Given the description of an element on the screen output the (x, y) to click on. 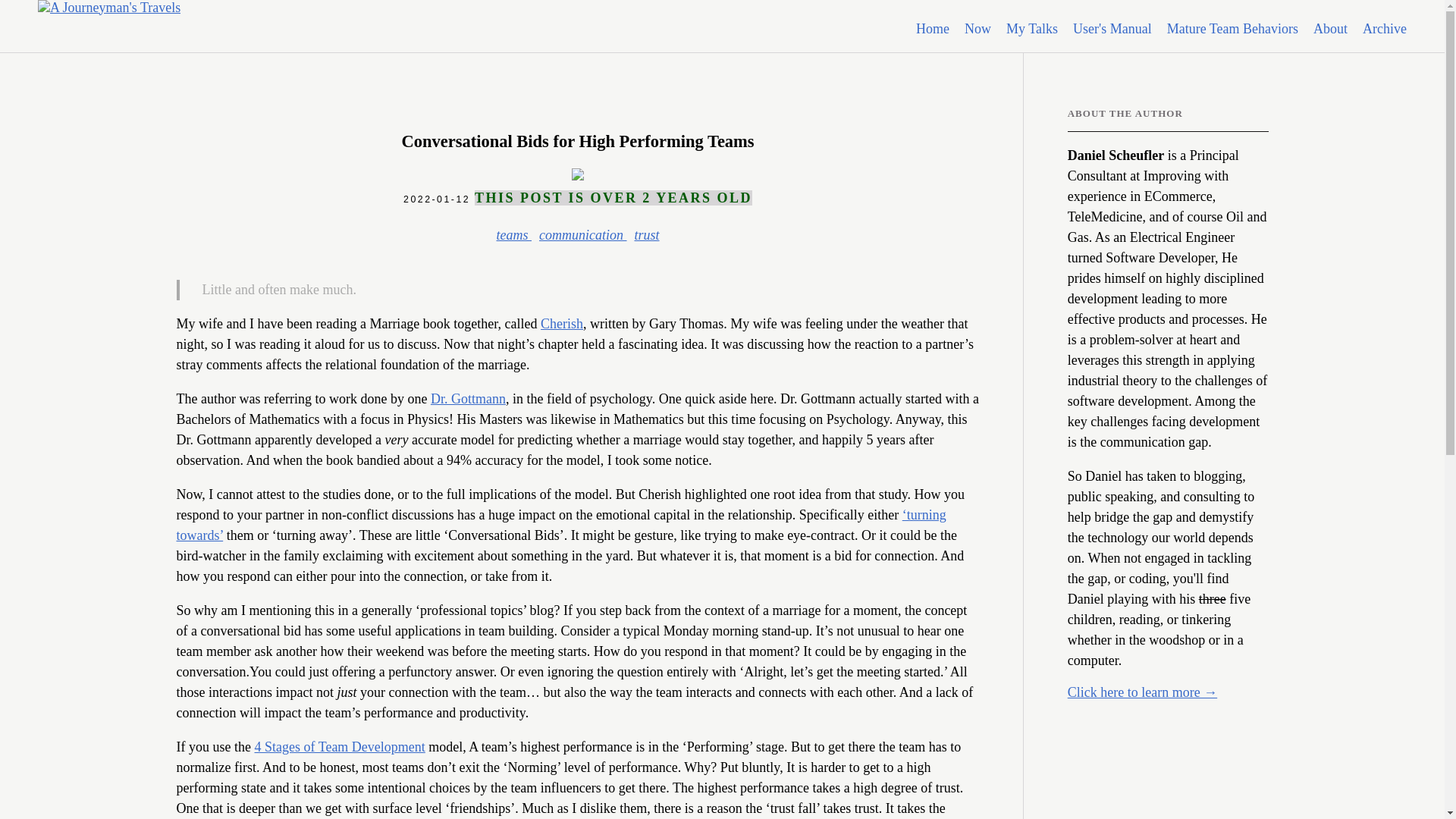
trust (646, 234)
User's Manual (1112, 28)
github (1093, 707)
linkedin (1112, 707)
Mature Team Behaviors (1232, 28)
4 Stages of Team Development (339, 746)
About (1330, 28)
My Talks (1032, 28)
Archive (1384, 28)
Home (932, 28)
